Given the description of an element on the screen output the (x, y) to click on. 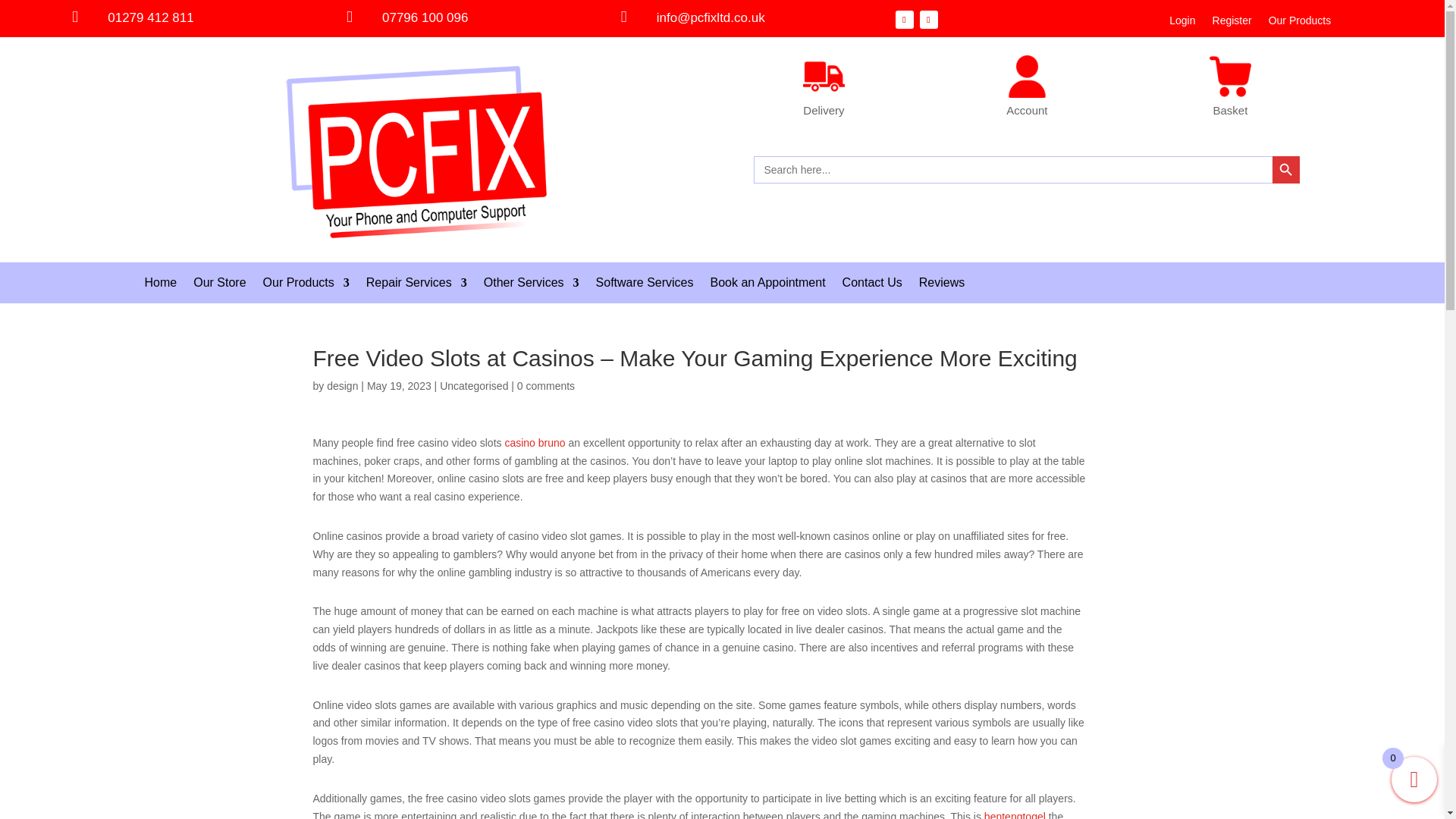
pc-fix-ltd-logo (417, 149)
Login (1182, 23)
Our Products (1299, 23)
user (1027, 76)
Register (1232, 23)
Follow on Instagram (927, 19)
delivery-truck (823, 76)
shopping-cart (1229, 76)
Posts by design (342, 386)
Follow on Facebook (903, 19)
